Given the description of an element on the screen output the (x, y) to click on. 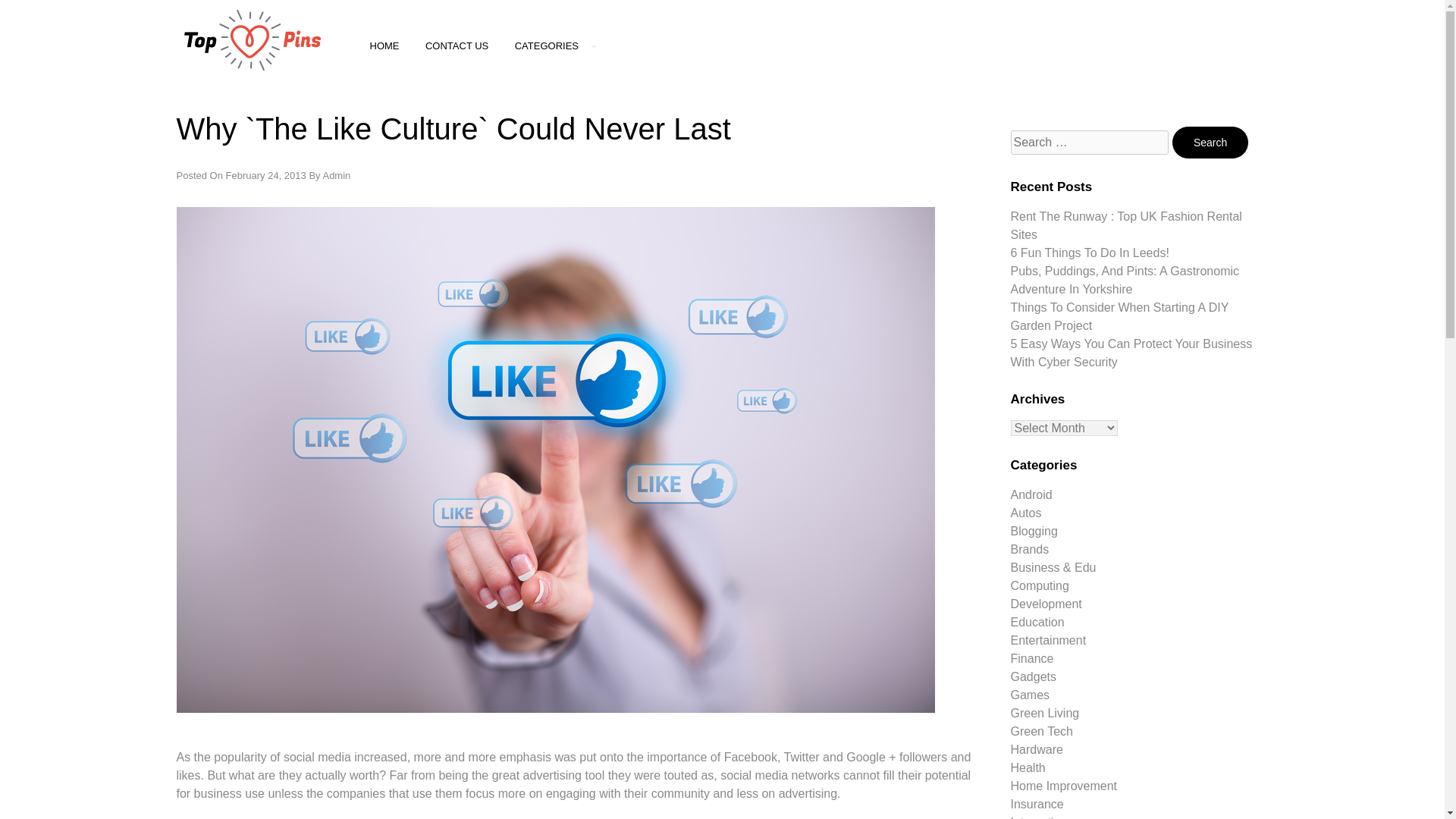
Entertainment (1048, 640)
Search (1210, 142)
Autos (1025, 512)
6 Fun Things To Do In Leeds! (1089, 252)
Gadgets (1032, 676)
Android (1030, 494)
Things To Consider When Starting A DIY Garden Project (1119, 316)
Admin (335, 174)
Rent The Runway : Top UK Fashion Rental Sites (1125, 224)
TOPPINS (212, 113)
Games (1029, 694)
Blogging (1033, 530)
Education (1037, 621)
Green Living (1044, 712)
Green Tech (1040, 730)
